Given the description of an element on the screen output the (x, y) to click on. 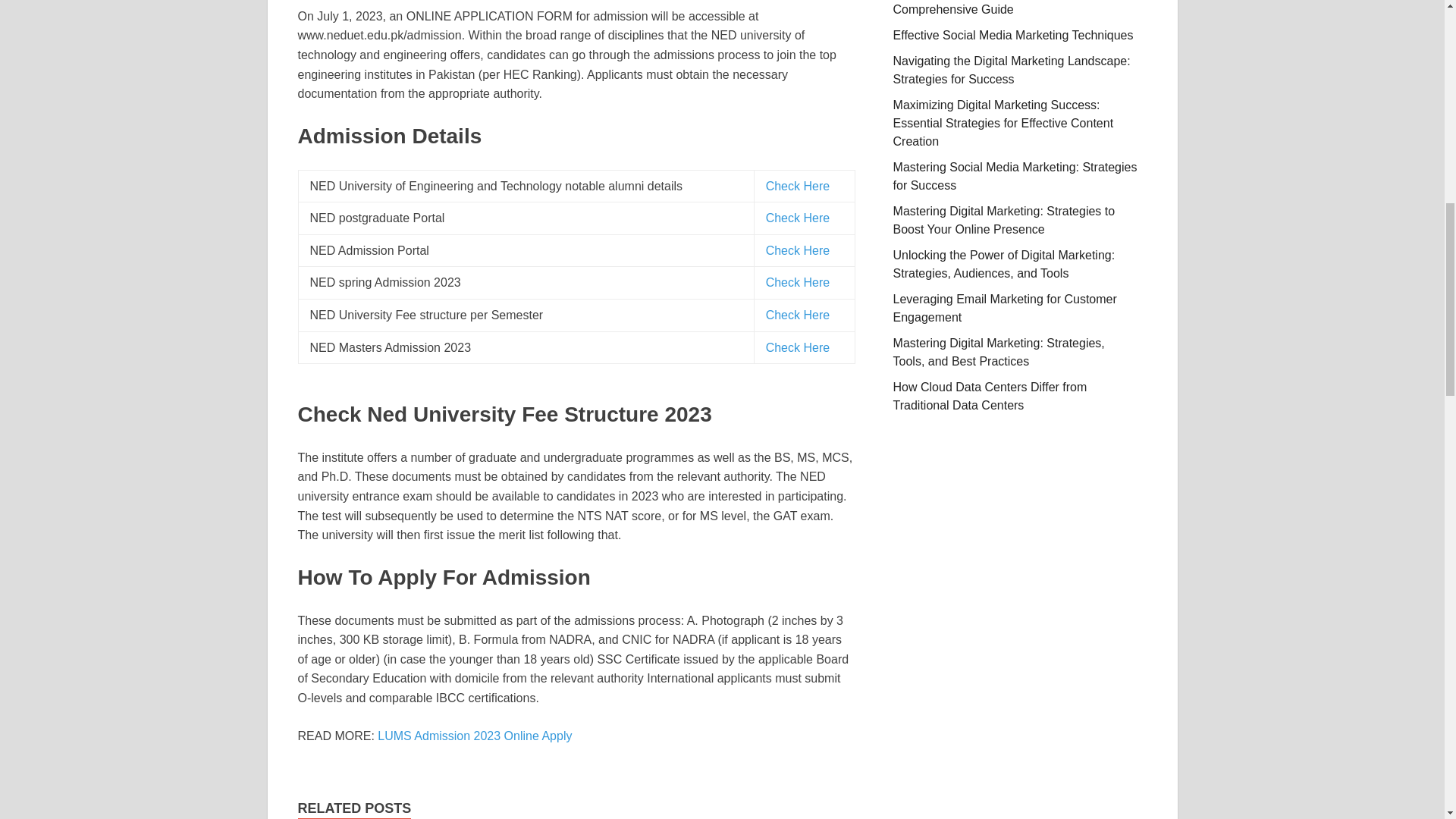
Check Here (797, 185)
Check Here (797, 217)
Check Here (797, 250)
Check Here (797, 347)
LUMS Admission 2023 Online Apply (474, 735)
Check Here (797, 282)
Check Here (797, 314)
